Given the description of an element on the screen output the (x, y) to click on. 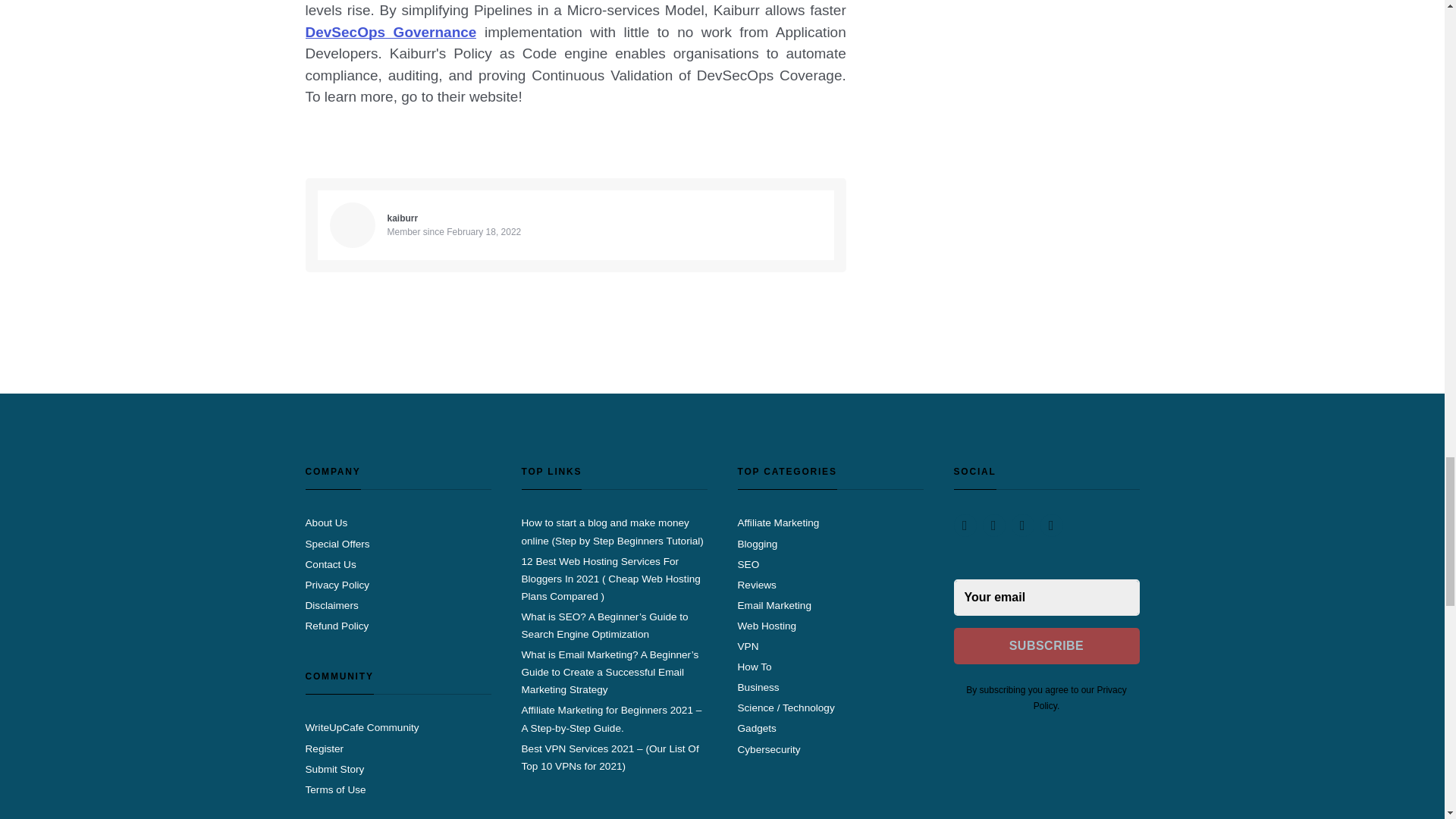
kaiburr (402, 217)
DevSecOps Governance (390, 32)
